Given the description of an element on the screen output the (x, y) to click on. 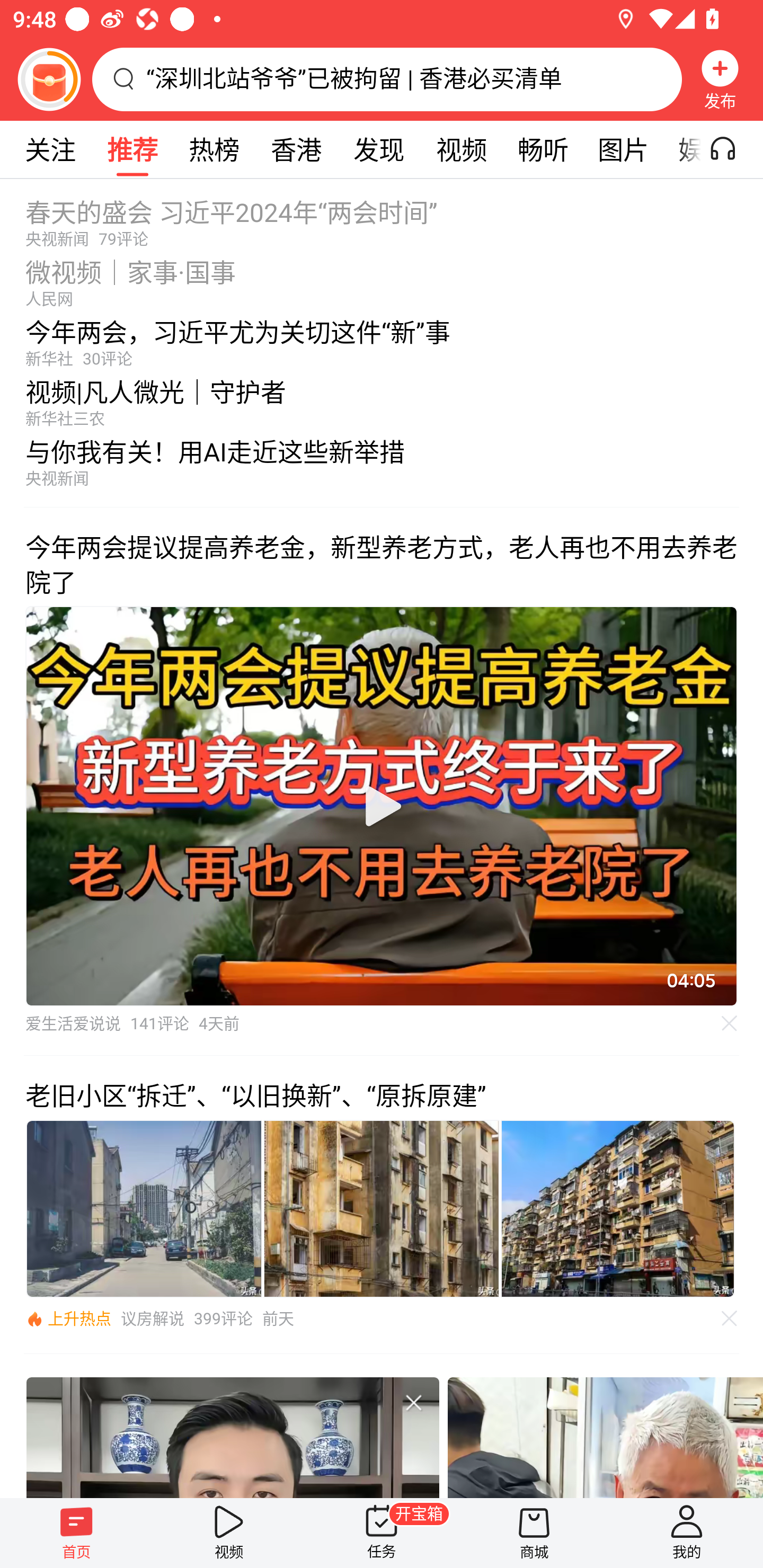
阅读赚金币 (48, 79)
“深圳北站爷爷”已被拘留 | 香港必买清单 搜索框，“深圳北站爷爷”已被拘留 | 香港必买清单 (387, 79)
发布 发布，按钮 (720, 78)
关注 (50, 149)
推荐 (132, 149)
热榜 (213, 149)
香港 (295, 149)
发现 (378, 149)
视频 (461, 149)
畅听 (542, 149)
图片 (623, 149)
听一听开关 (732, 149)
微视频｜家事·国事人民网 视频 微视频｜家事·国事 人民网 (381, 277)
视频|凡人微光｜守护者新华社三农 文章 视频|凡人微光｜守护者 新华社三农 (381, 398)
与你我有关！用AI走近这些新举措央视新闻 文章 与你我有关！用AI走近这些新举措 央视新闻 (381, 467)
播放视频 视频播放器，双击屏幕打开播放控制 (381, 805)
播放视频 (381, 806)
不感兴趣 (729, 1023)
内容图片 (143, 1208)
内容图片 (381, 1208)
内容图片 (617, 1208)
不感兴趣 (729, 1318)
不感兴趣 (413, 1402)
首页 (76, 1532)
视频 (228, 1532)
任务 开宝箱 (381, 1532)
商城 (533, 1532)
我的 (686, 1532)
